Given the description of an element on the screen output the (x, y) to click on. 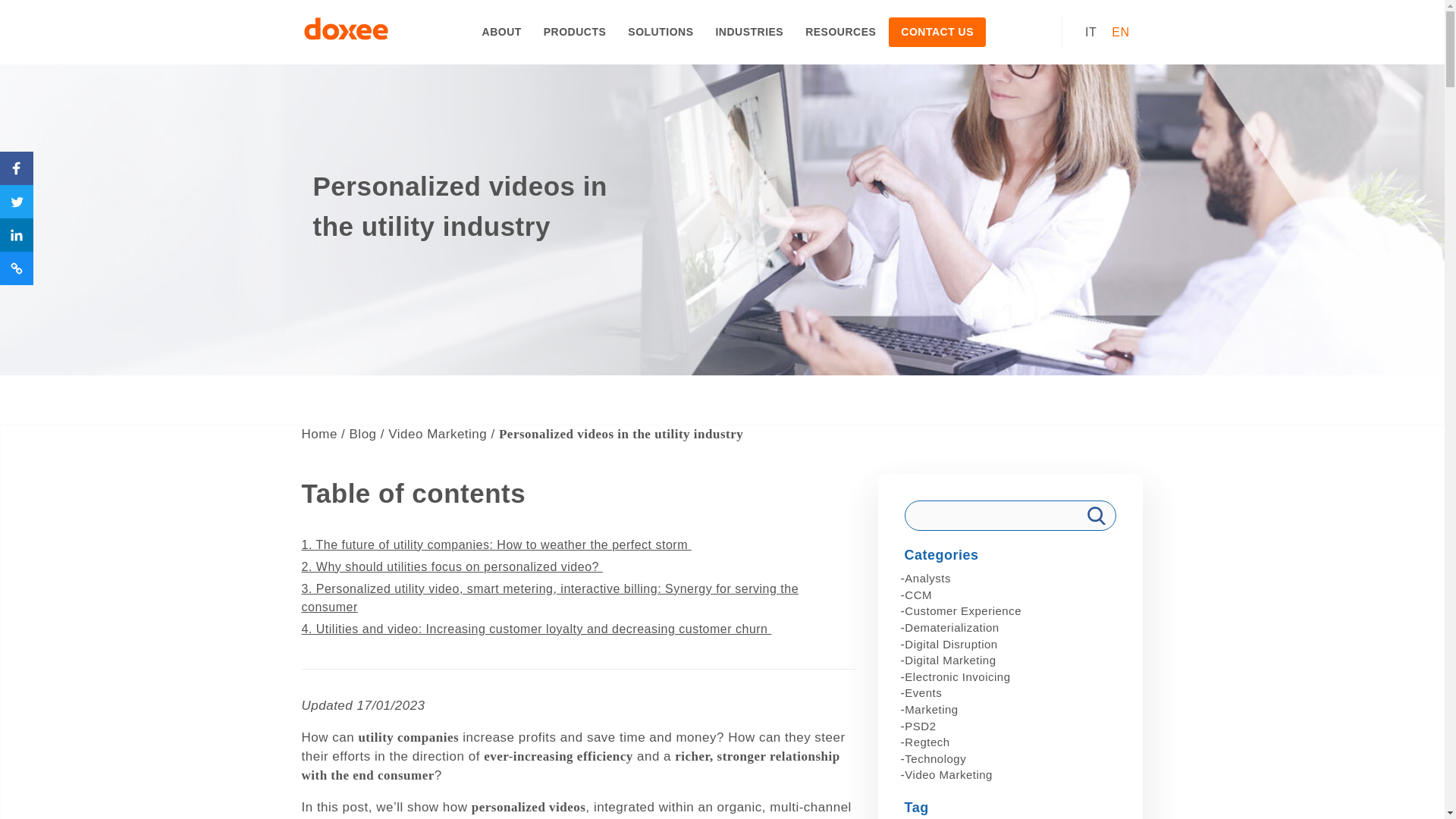
ABOUT (502, 32)
Doxee (345, 31)
PRODUCTS (574, 32)
